Given the description of an element on the screen output the (x, y) to click on. 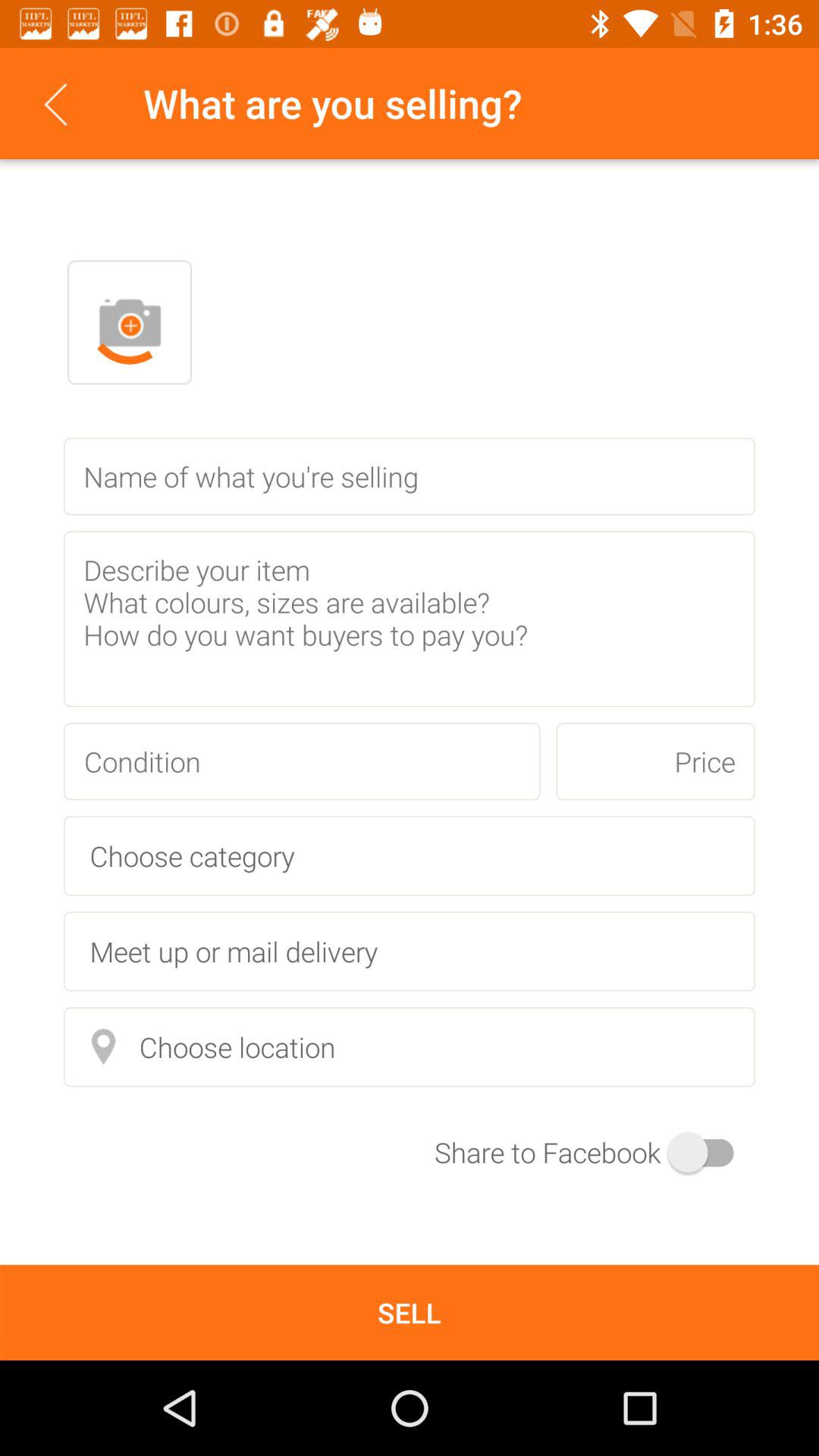
choose item to the left of what are you (55, 103)
